Given the description of an element on the screen output the (x, y) to click on. 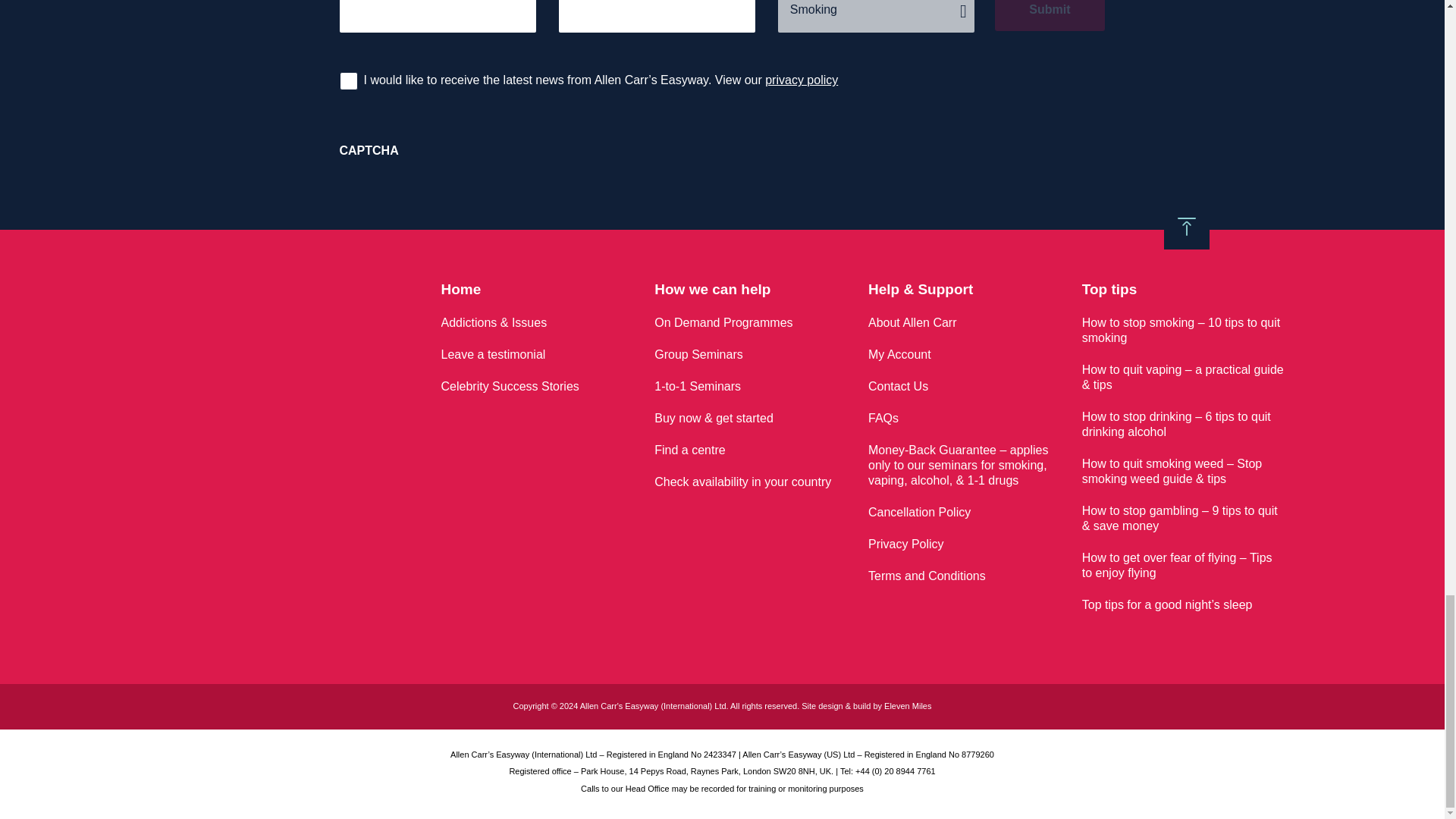
Home - Allen Carr's Easyway (251, 381)
